Given the description of an element on the screen output the (x, y) to click on. 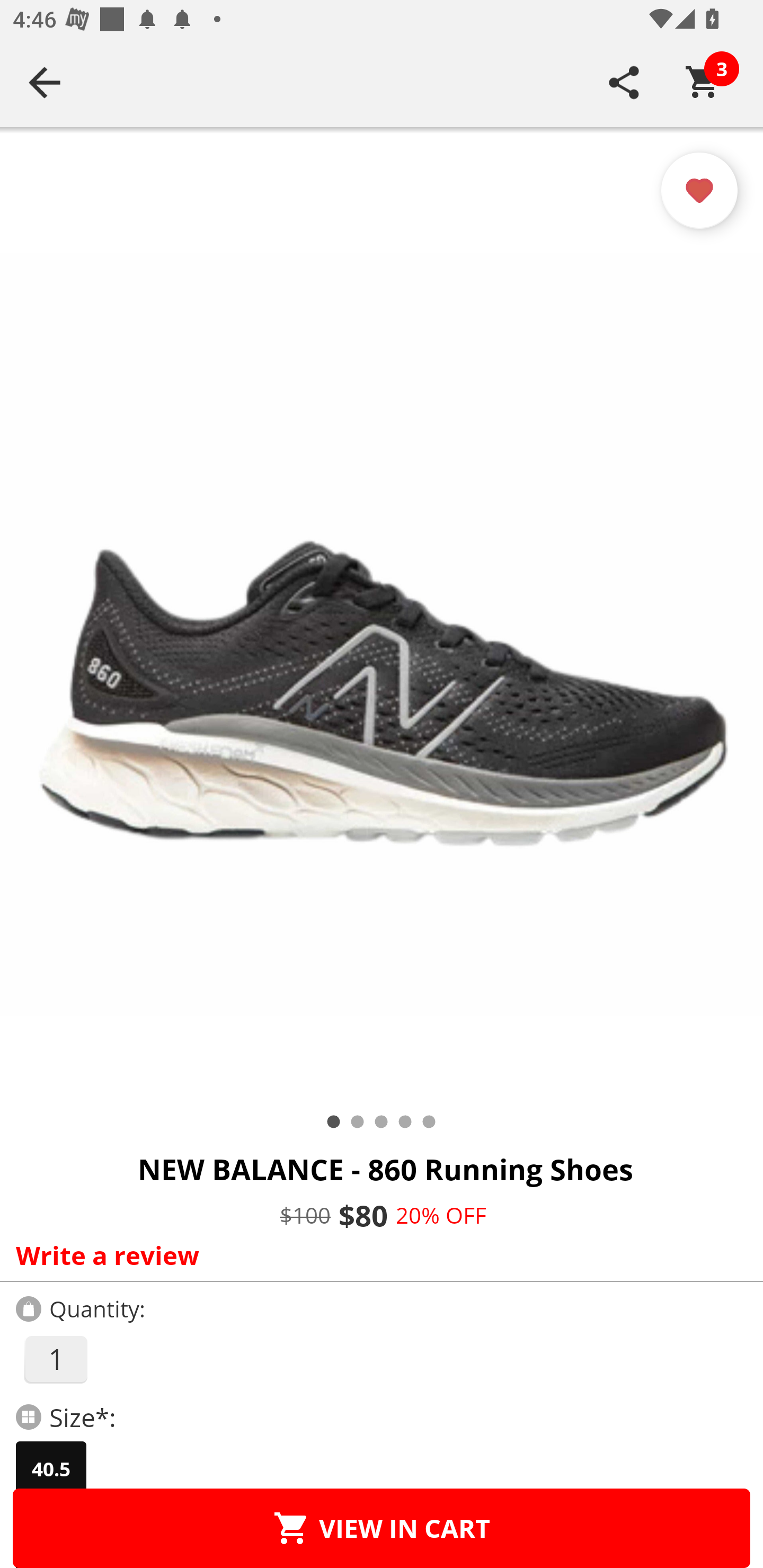
Navigate up (44, 82)
SHARE (623, 82)
Cart (703, 81)
Write a review (377, 1255)
1 (55, 1358)
40.5 (51, 1468)
VIEW IN CART (381, 1528)
